Given the description of an element on the screen output the (x, y) to click on. 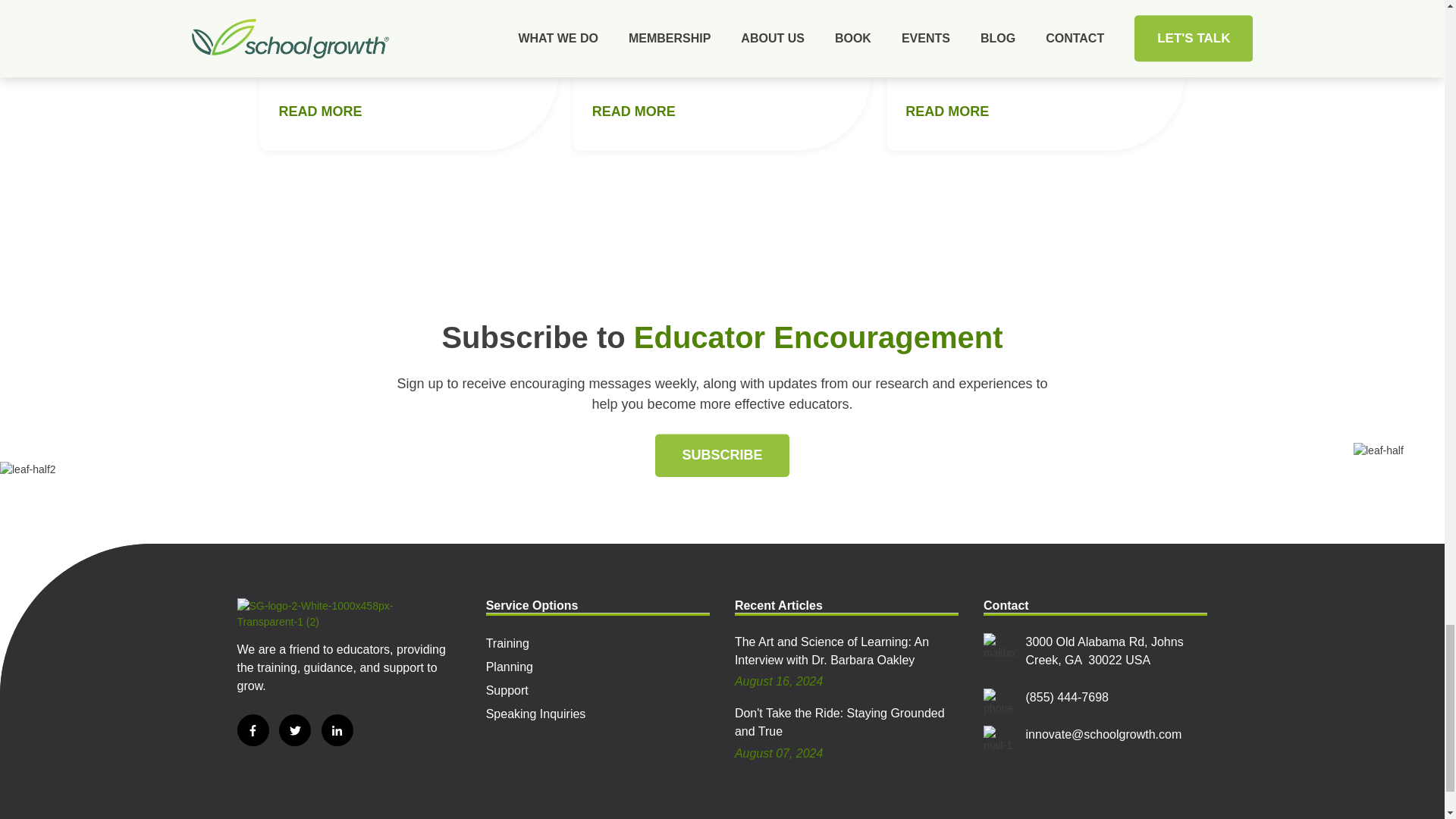
mail-1 (1000, 739)
READ MORE (633, 111)
SUBSCRIBE (722, 455)
mailbox (1000, 646)
phone (1000, 702)
READ MORE (320, 111)
READ MORE (946, 111)
